Given the description of an element on the screen output the (x, y) to click on. 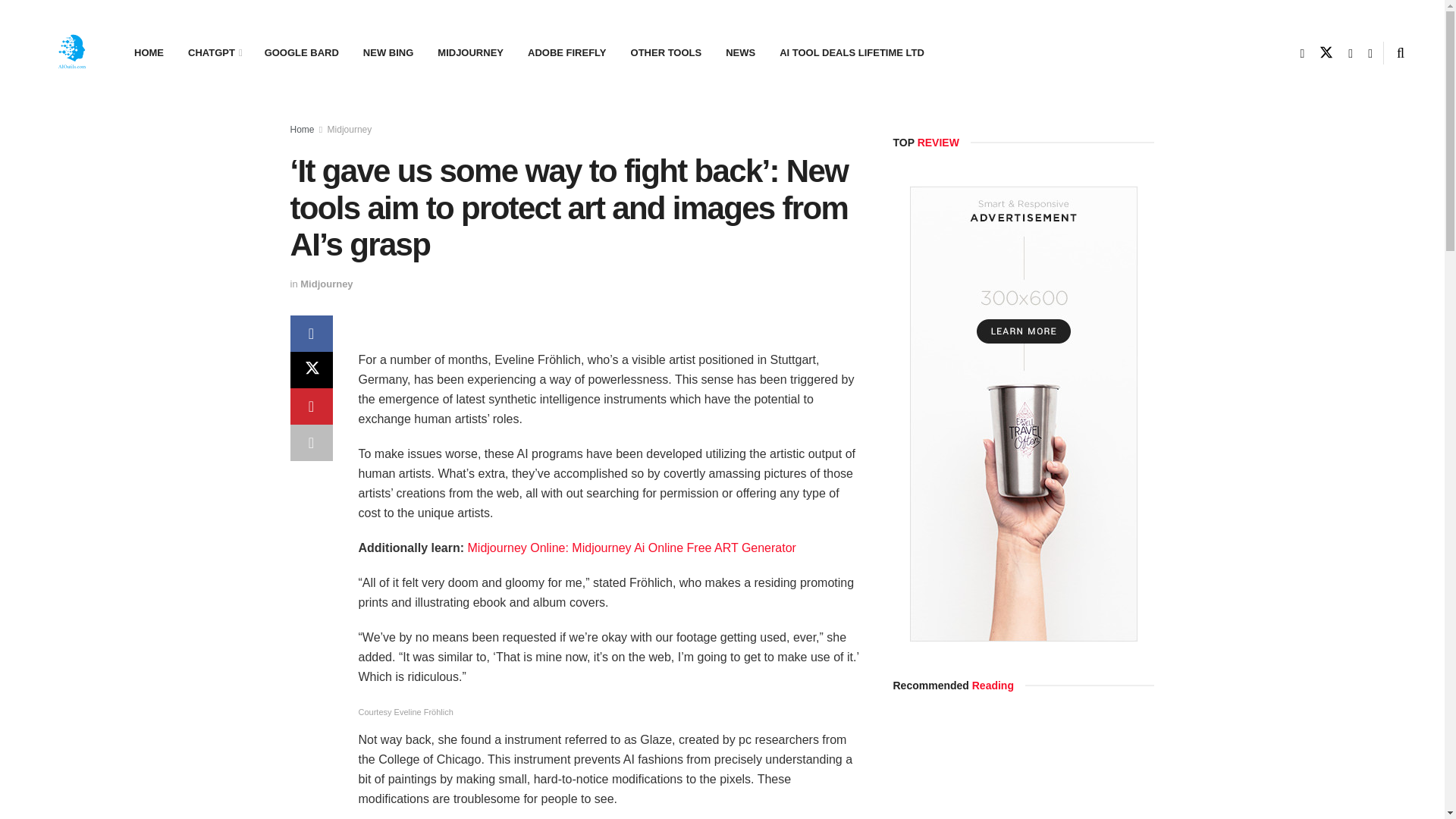
GOOGLE BARD (300, 53)
OTHER TOOLS (666, 53)
MIDJOURNEY (470, 53)
NEW BING (387, 53)
ADOBE FIREFLY (566, 53)
NEWS (740, 53)
AI TOOL DEALS LIFETIME LTD (851, 53)
HOME (149, 53)
CHATGPT (213, 53)
